Given the description of an element on the screen output the (x, y) to click on. 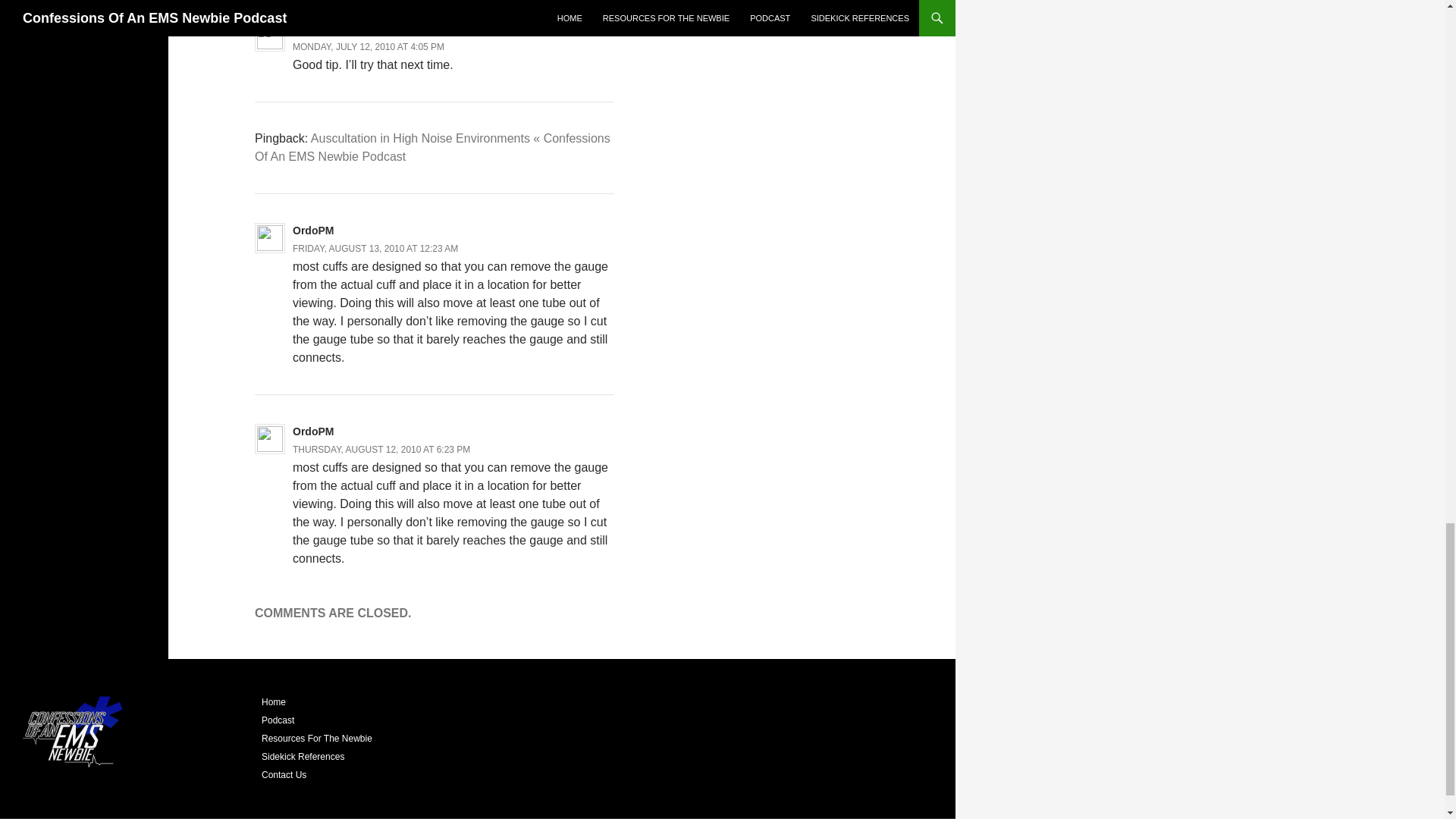
MONDAY, JULY 12, 2010 AT 4:05 PM (368, 46)
THURSDAY, AUGUST 12, 2010 AT 6:23 PM (381, 449)
FRIDAY, AUGUST 13, 2010 AT 12:23 AM (375, 248)
